Given the description of an element on the screen output the (x, y) to click on. 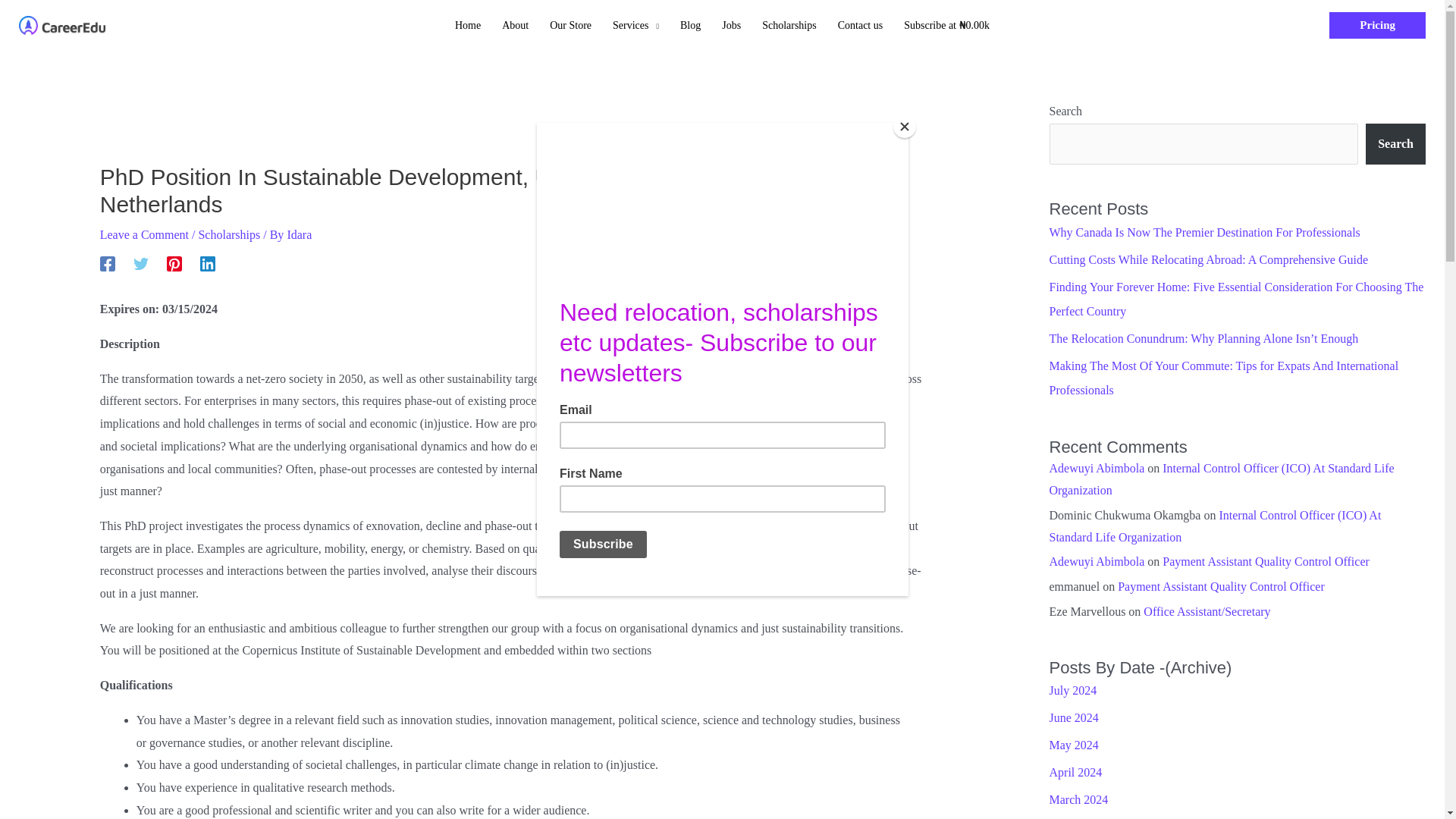
View all posts by Idara (298, 234)
Jobs (731, 25)
About (515, 25)
Home (468, 25)
Blog (690, 25)
Contact us (860, 25)
Services (635, 25)
Scholarships (789, 25)
Pricing (1377, 25)
Our Store (570, 25)
